Given the description of an element on the screen output the (x, y) to click on. 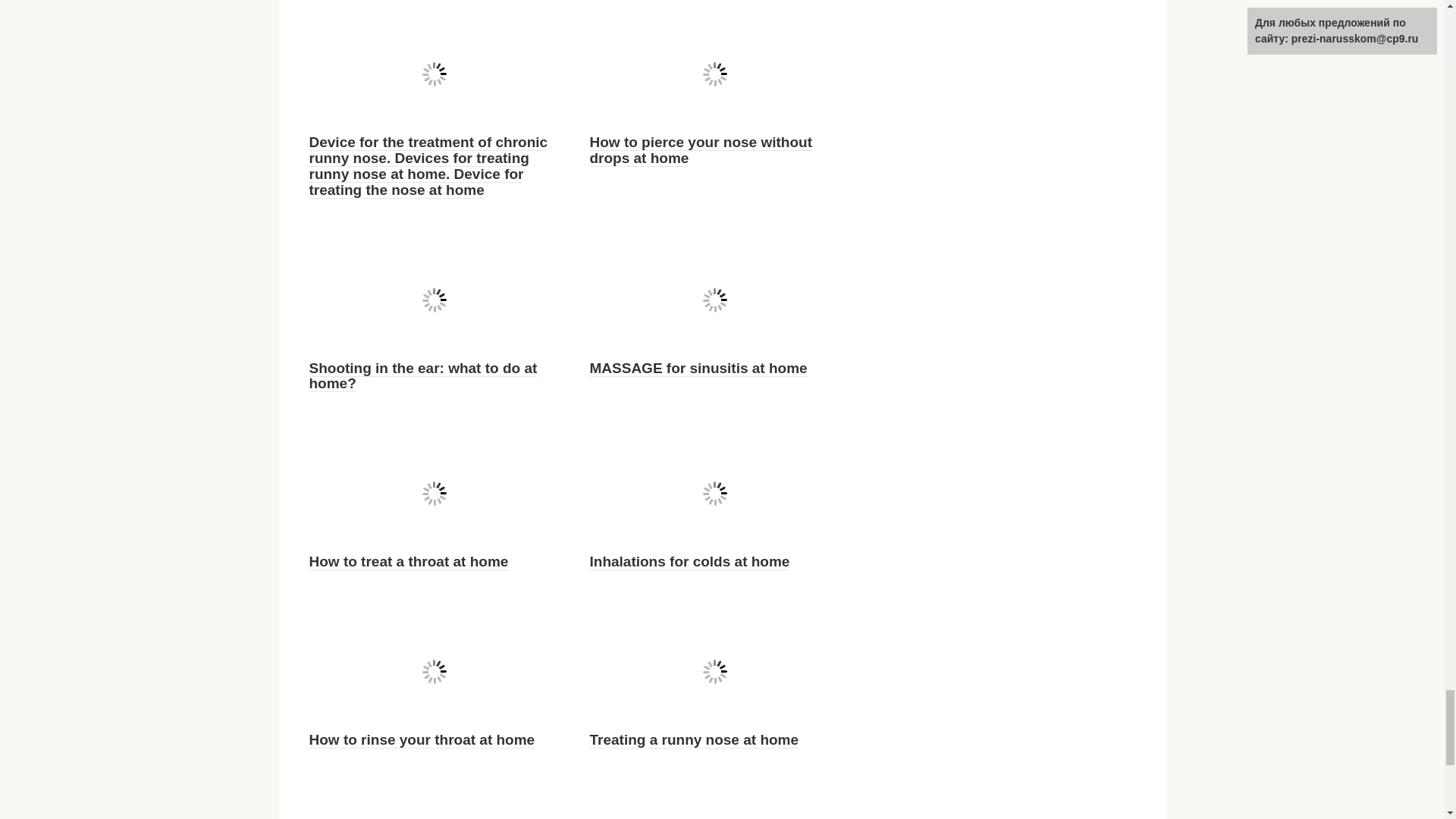
How to treat a throat at home (408, 561)
How to pierce your nose without drops at home (700, 150)
Inhalations for colds at home (689, 561)
Shooting in the ear: what to do at home? (422, 376)
Treating a runny nose at home (694, 740)
How to rinse your throat at home (421, 740)
MASSAGE for sinusitis at home (698, 368)
